Given the description of an element on the screen output the (x, y) to click on. 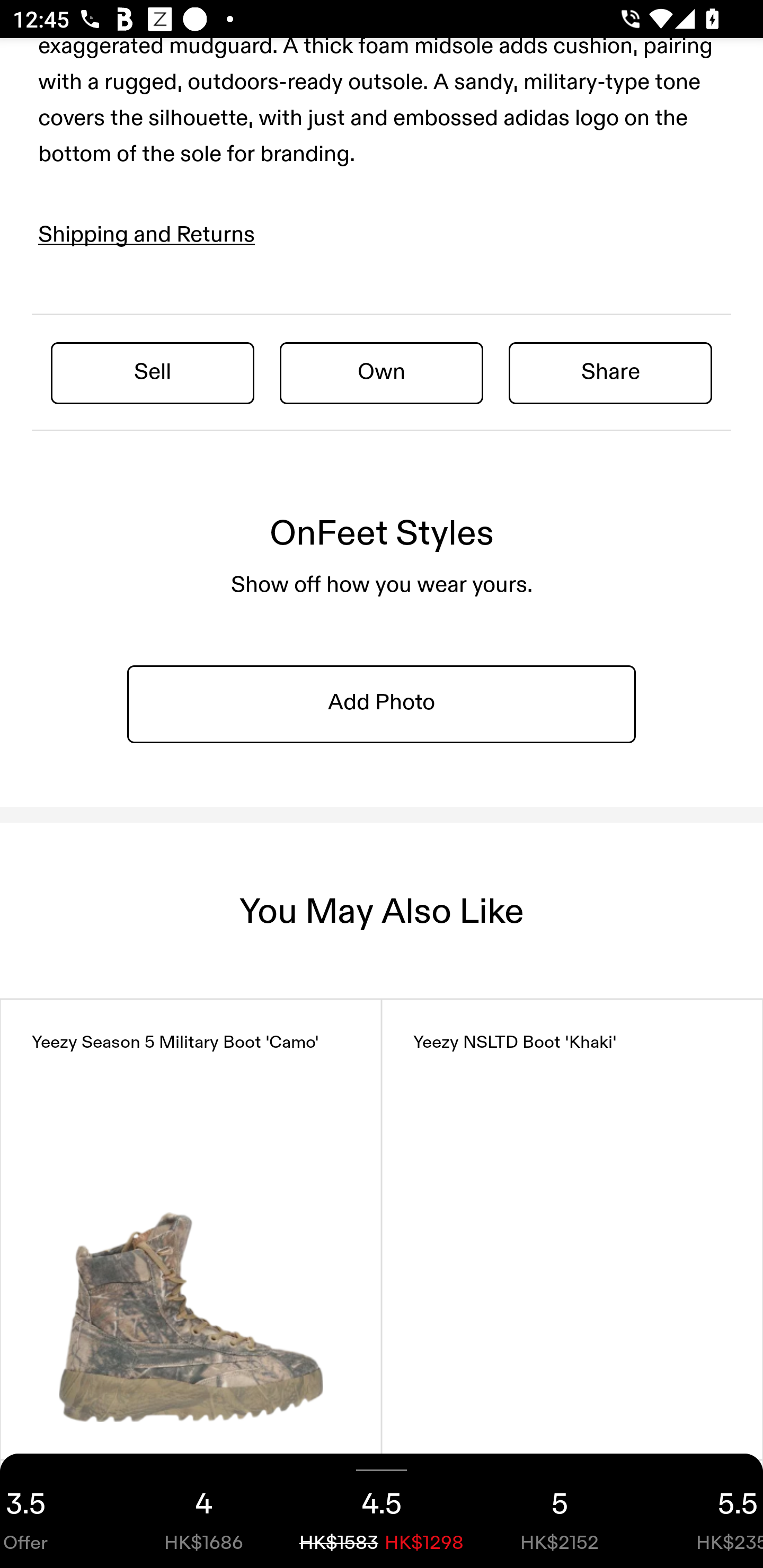
Shipping and Returns (146, 234)
Sell (152, 372)
Own (381, 372)
Share (609, 372)
Add Photo (381, 703)
Yeezy Season 5 Military Boot 'Camo' (190, 1228)
Yeezy NSLTD Boot 'Khaki' (572, 1228)
3.5 Offer (57, 1510)
4 HK$1686 (203, 1510)
4.5 HK$1583 HK$1298 (381, 1510)
5 HK$2152 (559, 1510)
5.5 HK$2350 (705, 1510)
